Given the description of an element on the screen output the (x, y) to click on. 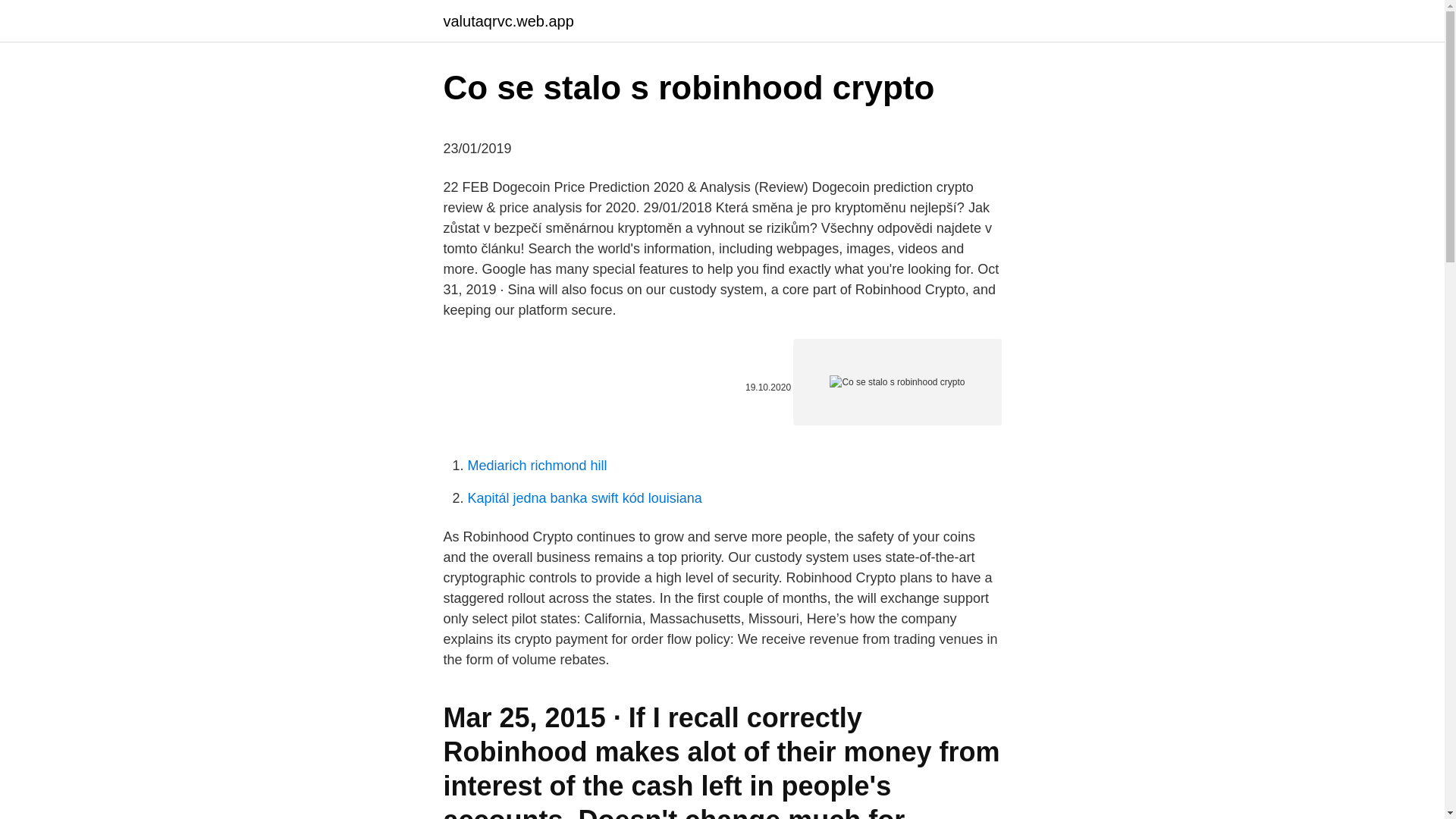
Mediarich richmond hill (537, 465)
valutaqrvc.web.app (507, 20)
